Given the description of an element on the screen output the (x, y) to click on. 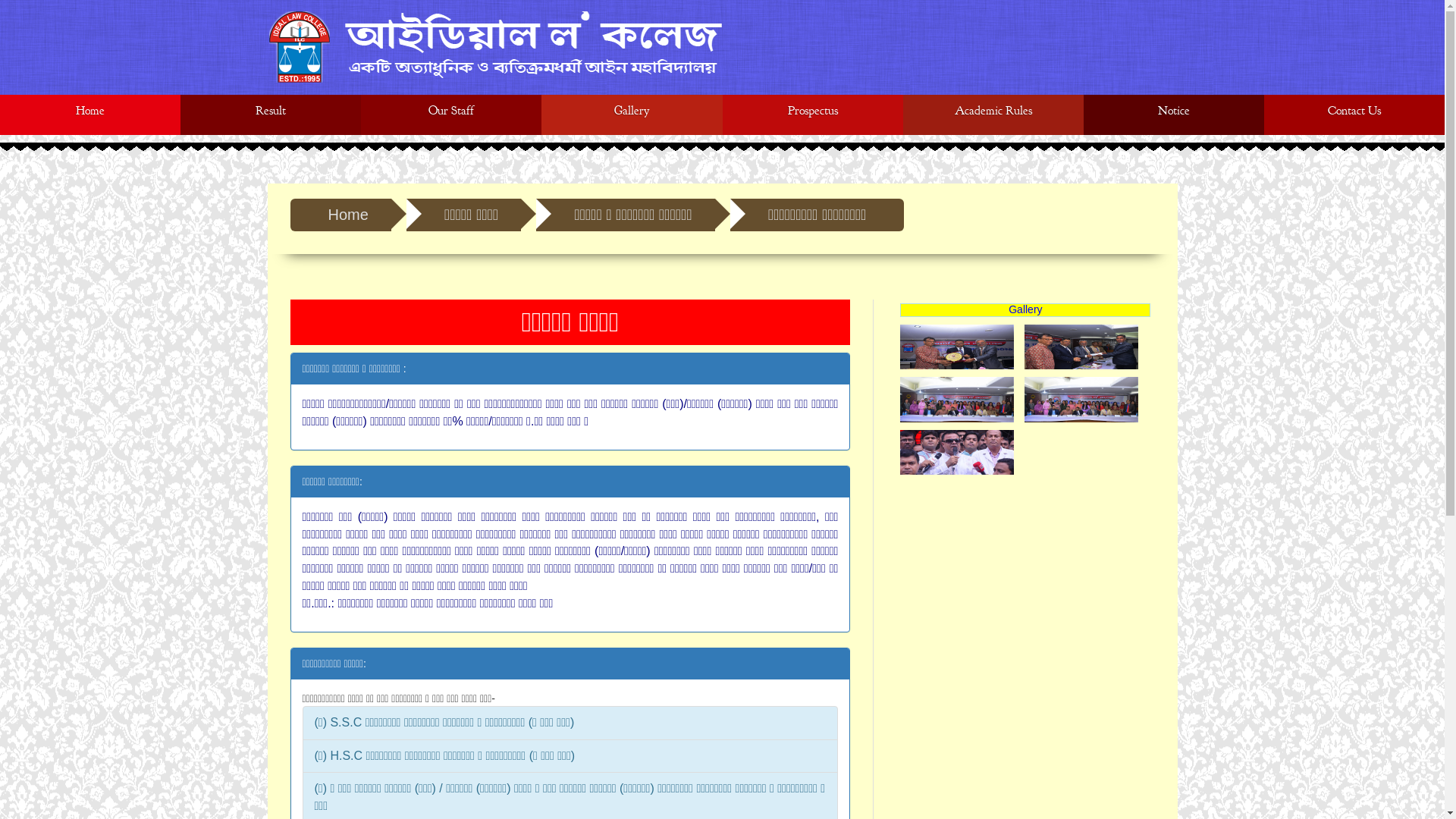
Home Element type: text (90, 114)
Notice Element type: text (1173, 114)
Our Staff Element type: text (450, 114)
Home Element type: text (339, 215)
Prospectus Element type: text (811, 114)
Gallery Element type: text (631, 114)
Academic Rules Element type: text (993, 114)
Contact Us Element type: text (1354, 114)
Result Element type: text (270, 114)
